Given the description of an element on the screen output the (x, y) to click on. 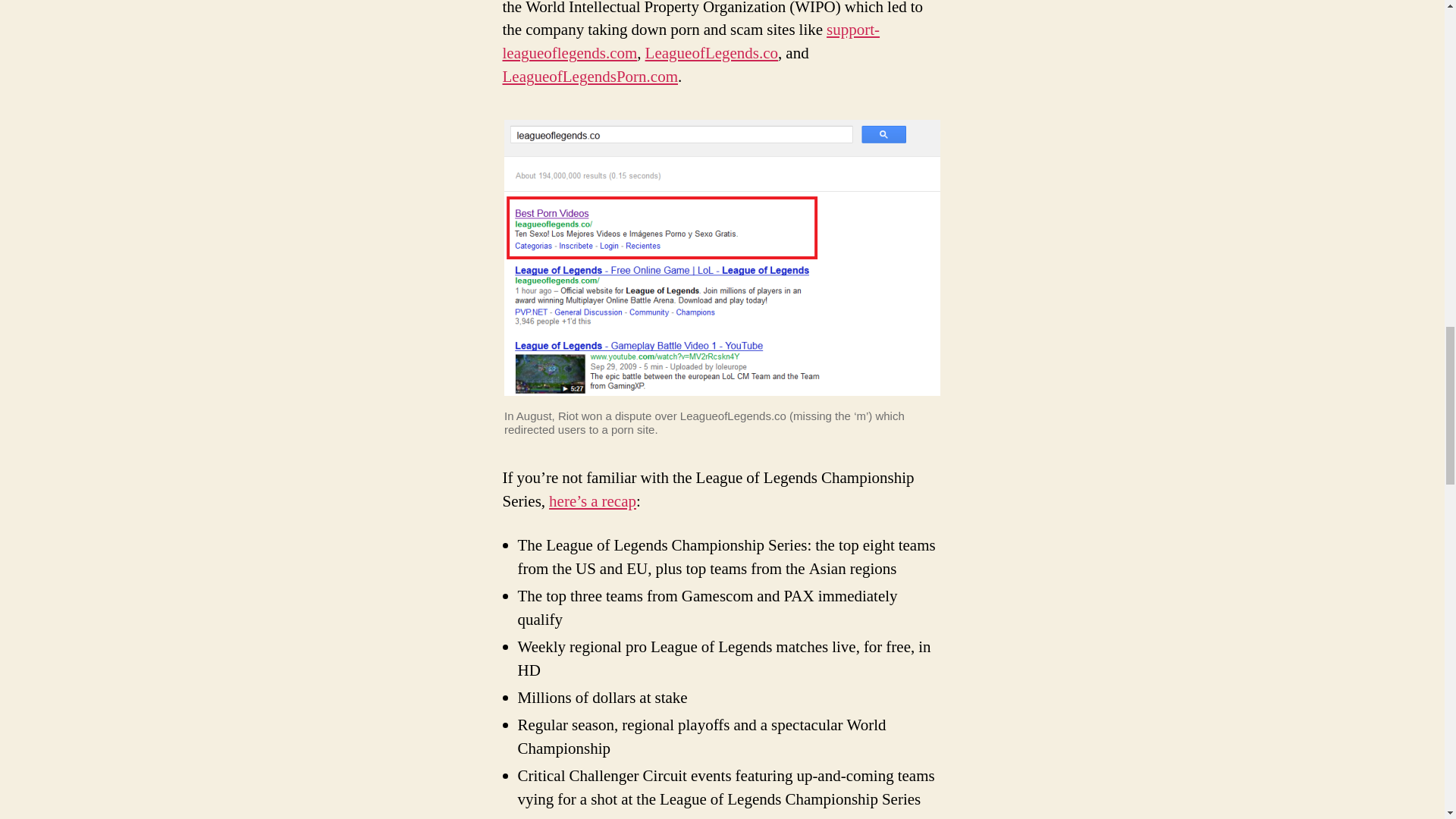
LeagueofLegendsPorn.com (590, 76)
League of Legends (592, 501)
LeagueofLegends.co (711, 53)
support-leagueoflegends.com (690, 41)
